Given the description of an element on the screen output the (x, y) to click on. 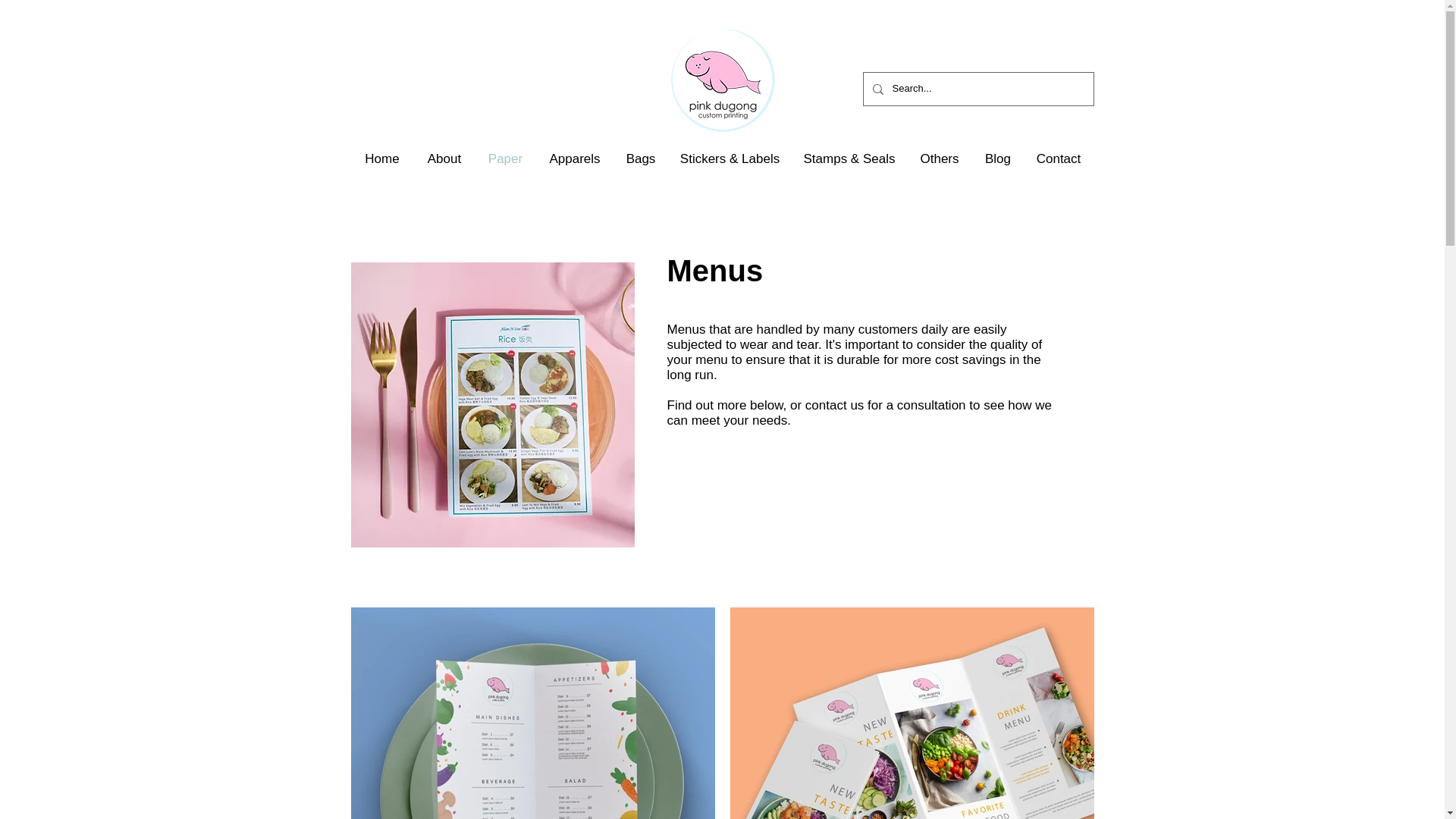
Bags (641, 159)
Others (939, 159)
Contact (1058, 159)
Blog (997, 159)
Apparels (573, 159)
Paper (504, 159)
Home (381, 159)
About (444, 159)
